Given the description of an element on the screen output the (x, y) to click on. 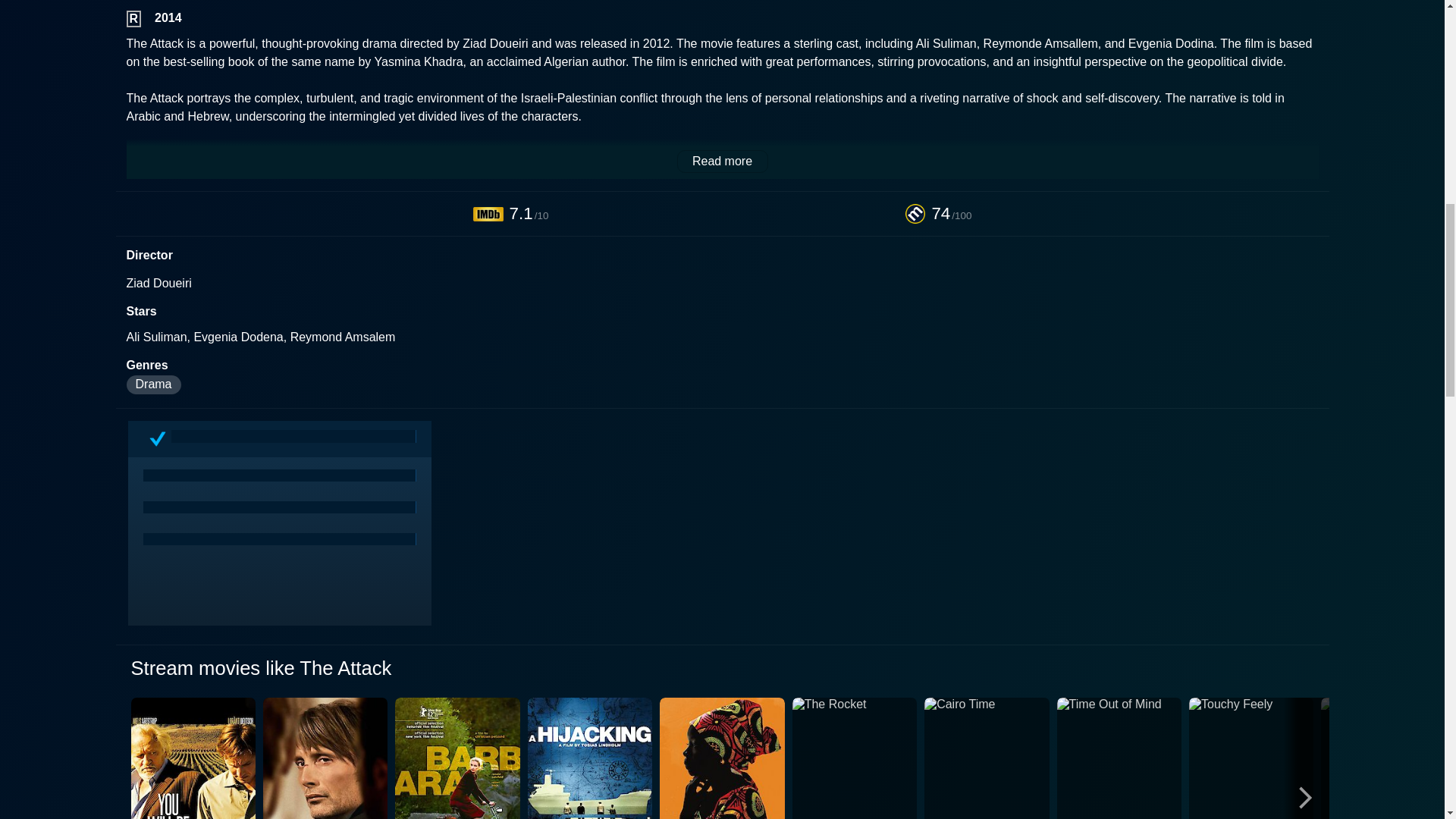
Drama (152, 384)
Read more (722, 160)
